Given the description of an element on the screen output the (x, y) to click on. 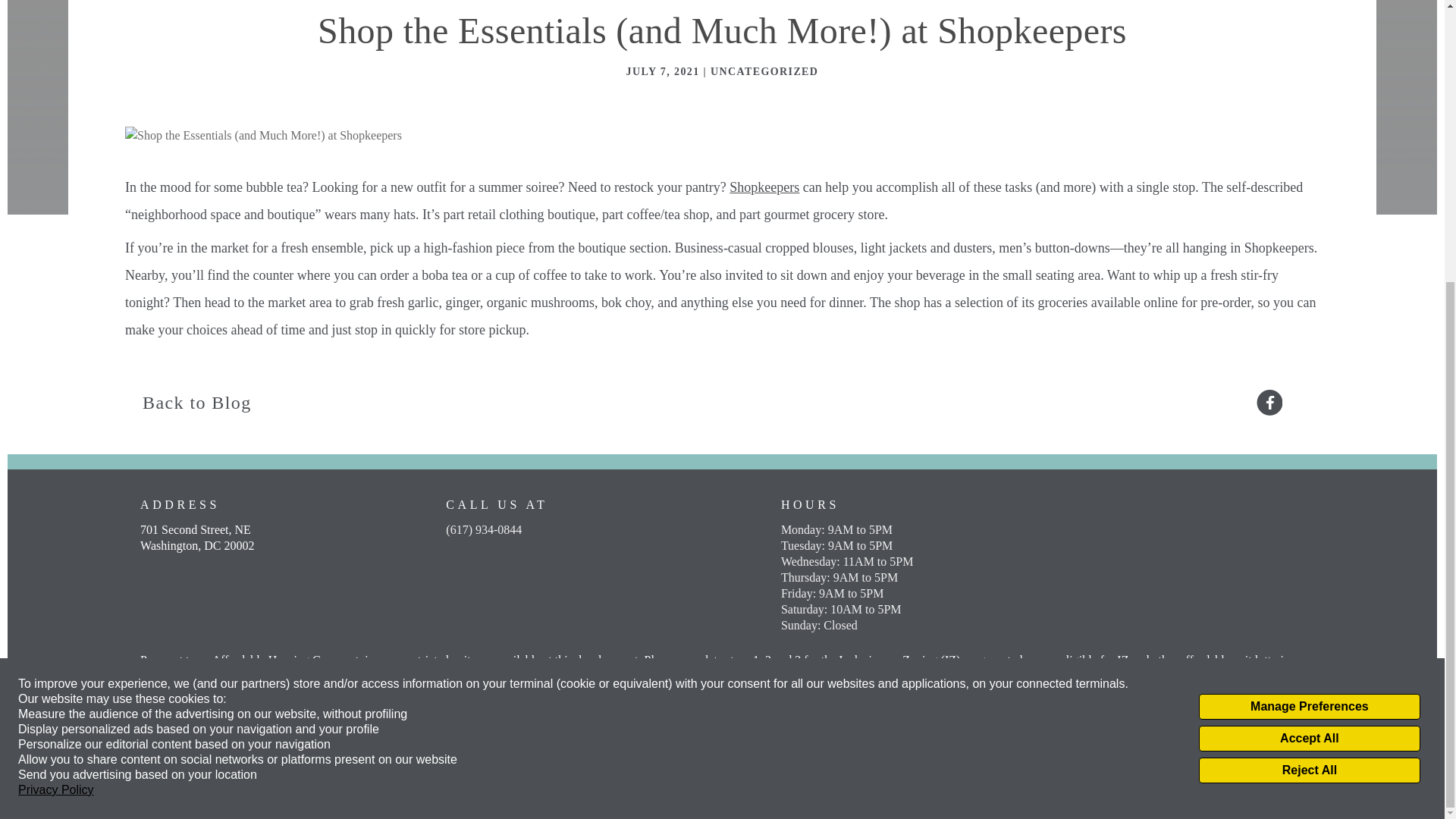
Back to Blog (187, 402)
Reject All (1309, 347)
Accept All (1309, 316)
Shopkeepers (764, 186)
Manage Preferences (1309, 284)
Privacy Policy (55, 367)
